Given the description of an element on the screen output the (x, y) to click on. 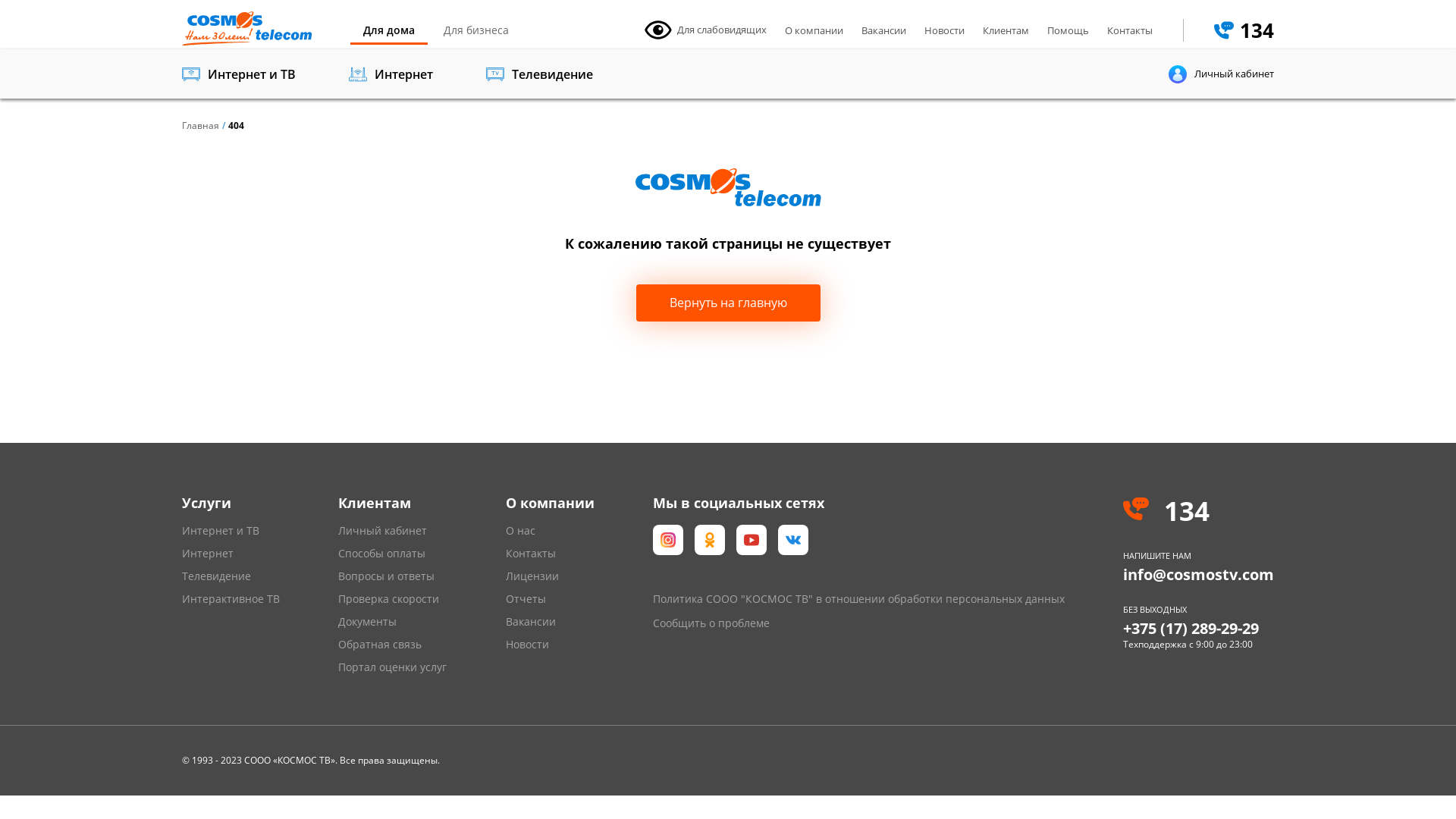
134 Element type: text (1198, 510)
404 Element type: text (236, 125)
info@cosmostv.com Element type: text (1198, 574)
+375 (17) 289-29-29 Element type: text (1190, 628)
134 Element type: text (1244, 30)
